Given the description of an element on the screen output the (x, y) to click on. 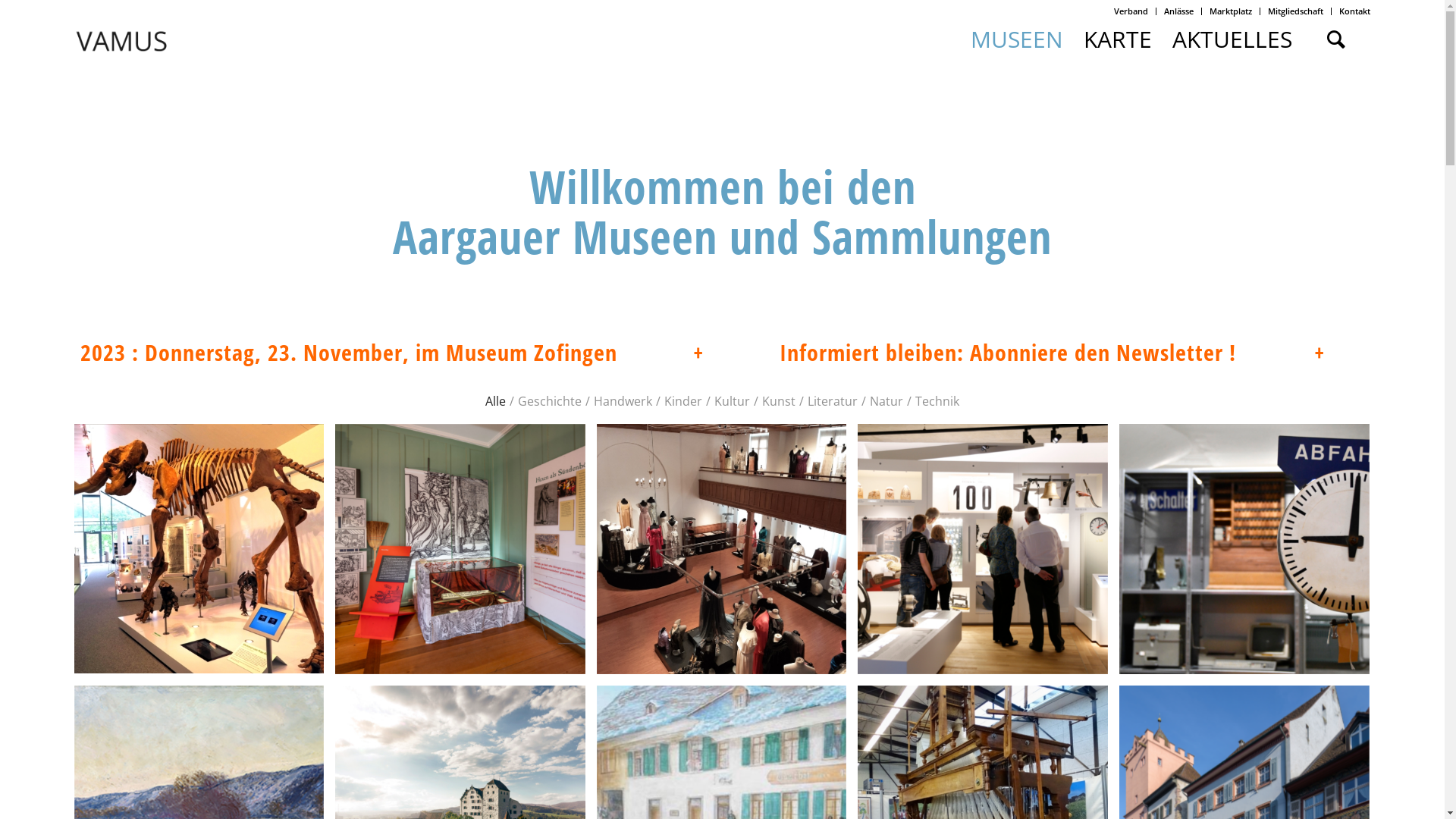
SBB Historic Windisch Element type: hover (1249, 554)
Kontakt Element type: text (1354, 10)
Literatur Element type: text (832, 381)
Willkommen bei den Element type: text (722, 186)
SBB Historic Windisch Element type: hover (1244, 548)
Hexenmuseum Element type: hover (465, 553)
AKTUELLES Element type: text (1231, 38)
Kinder Element type: text (683, 381)
Historisches Museum Baden Element type: hover (982, 548)
Mammutmuseum Niederweningen Element type: hover (204, 550)
Handwerk Element type: text (622, 381)
MUSEEN Element type: text (1016, 38)
Verband Element type: text (1130, 10)
Modesammlung Uerkheim Element type: hover (721, 548)
Hexenmuseum Element type: hover (460, 548)
Kunst Element type: text (778, 381)
Alle Element type: text (495, 381)
Geschichte Element type: text (549, 381)
Mammutmuseum Niederweningen Element type: hover (199, 546)
Modesammlung Uerkheim Element type: hover (727, 553)
Marktplatz Element type: text (1230, 10)
Aargauer Museen und Sammlungen Element type: text (721, 236)
KARTE Element type: text (1117, 38)
Natur Element type: text (886, 381)
Kultur Element type: text (731, 381)
Technik Element type: text (937, 381)
Mitgliedschaft Element type: text (1295, 10)
Historisches Museum Baden Element type: hover (988, 554)
